Given the description of an element on the screen output the (x, y) to click on. 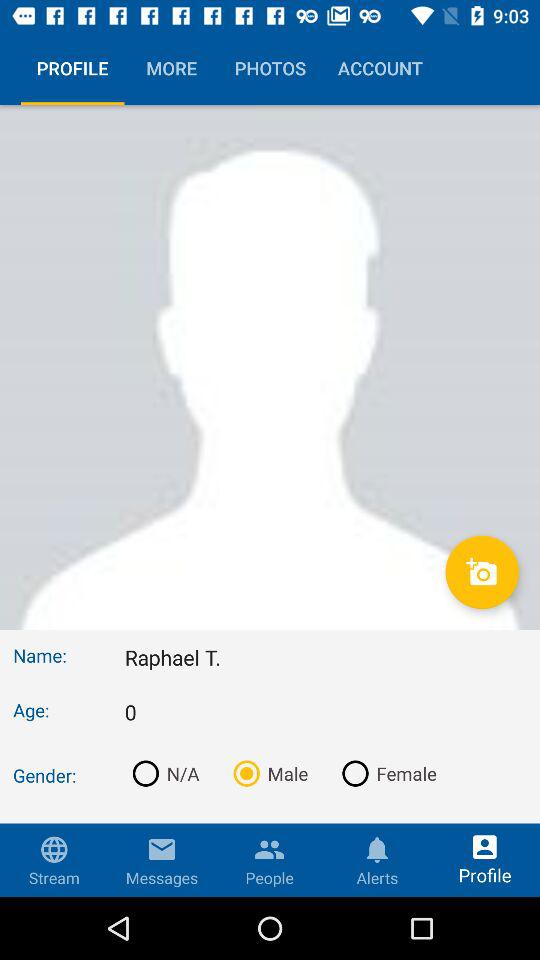
jump to n/a icon (161, 773)
